Given the description of an element on the screen output the (x, y) to click on. 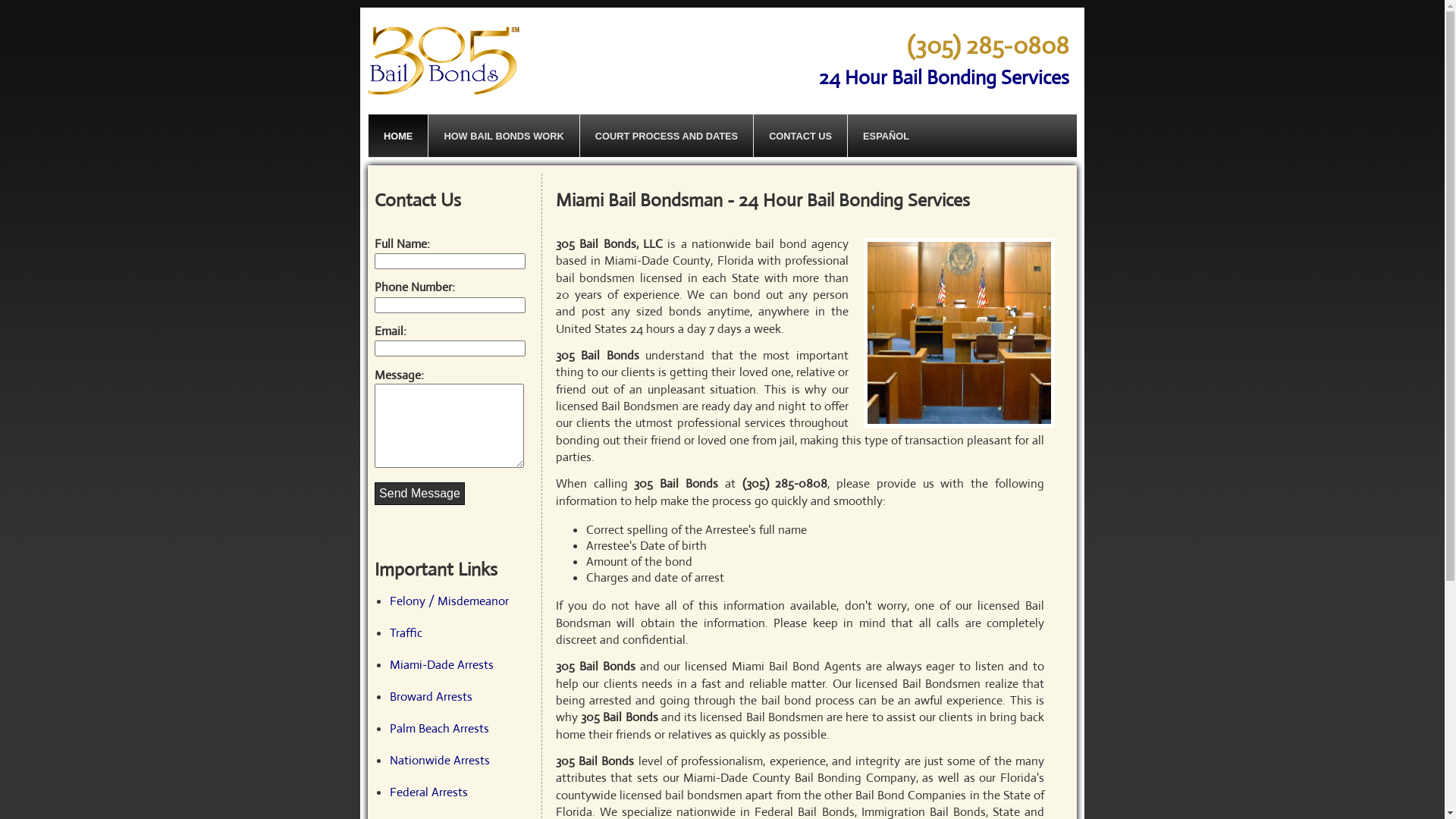
CONTACT US Element type: text (800, 135)
HOME Element type: text (397, 135)
Felony / Misdemeanor Element type: text (448, 600)
Palm Beach Arrests Element type: text (439, 728)
COURT PROCESS AND DATES Element type: text (666, 135)
Traffic Element type: text (405, 632)
Broward Arrests Element type: text (430, 696)
Miami-Dade Arrests Element type: text (441, 664)
Send Message Element type: text (419, 493)
Nationwide Arrests Element type: text (439, 760)
HOW BAIL BONDS WORK Element type: text (502, 135)
Federal Arrests Element type: text (428, 792)
